Given the description of an element on the screen output the (x, y) to click on. 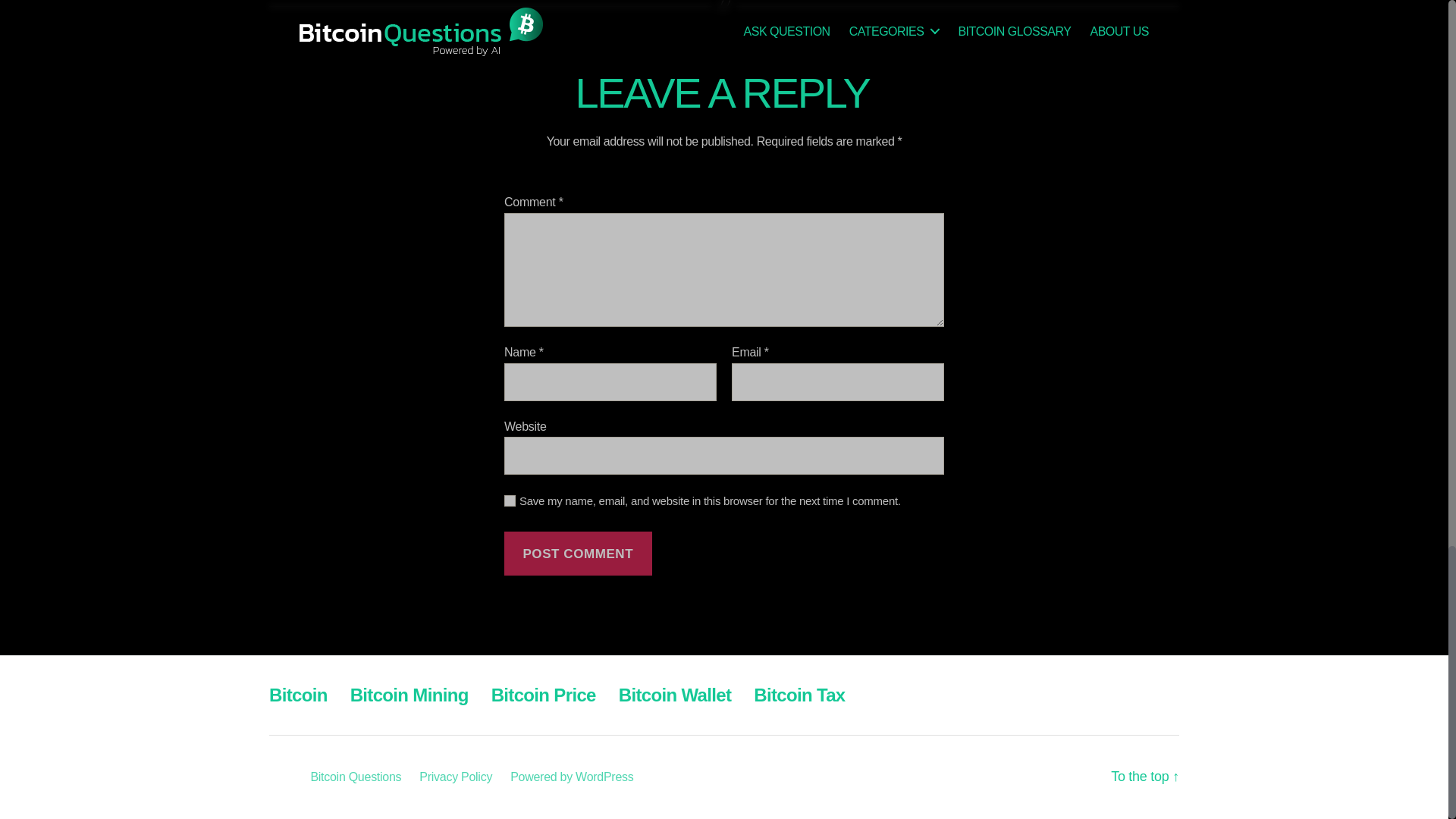
yes (509, 500)
Post Comment (577, 553)
